Given the description of an element on the screen output the (x, y) to click on. 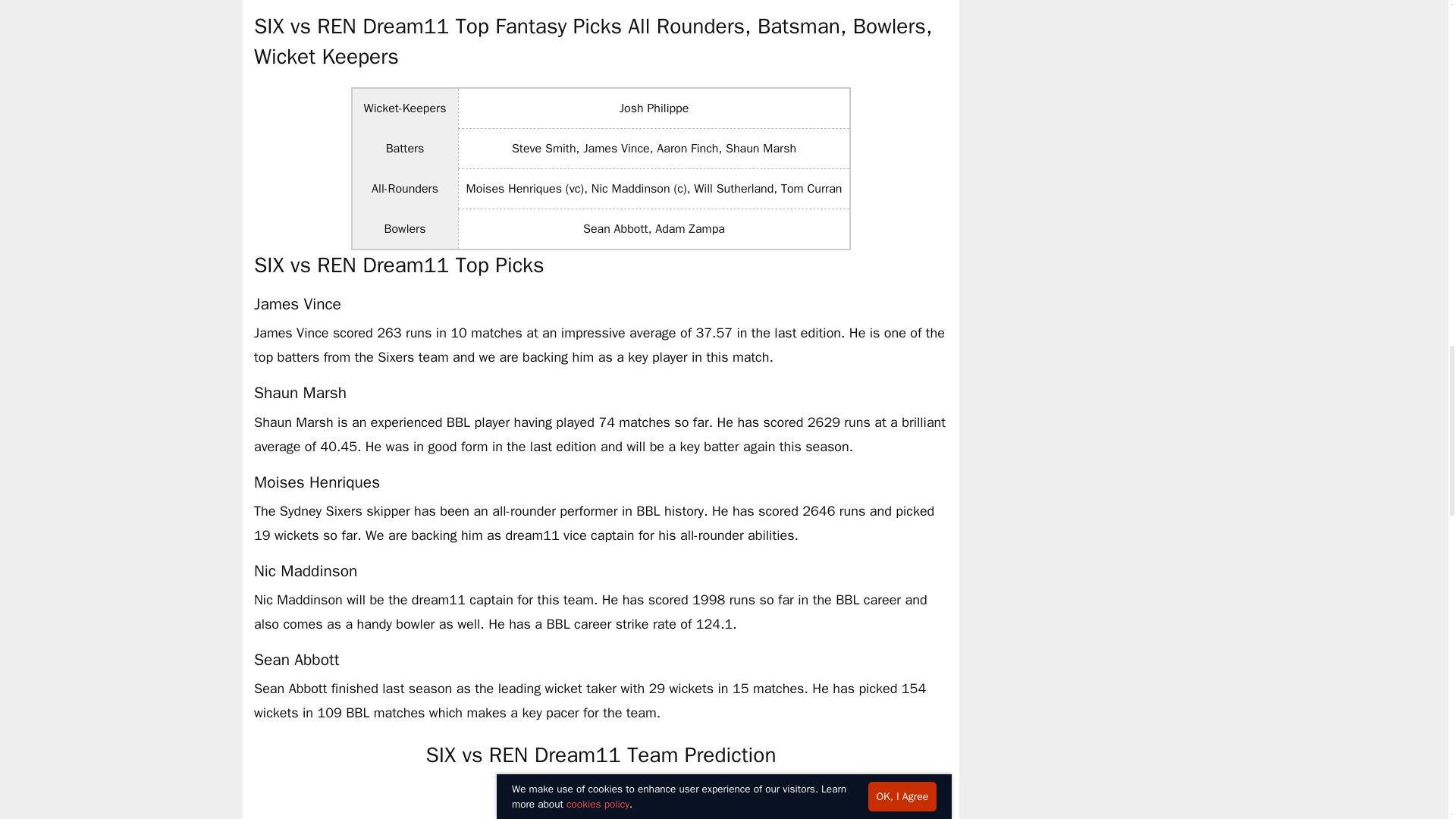
SIX vs REN Dream11 Team Prediction BBL 2023 Match 2 (601, 802)
